Given the description of an element on the screen output the (x, y) to click on. 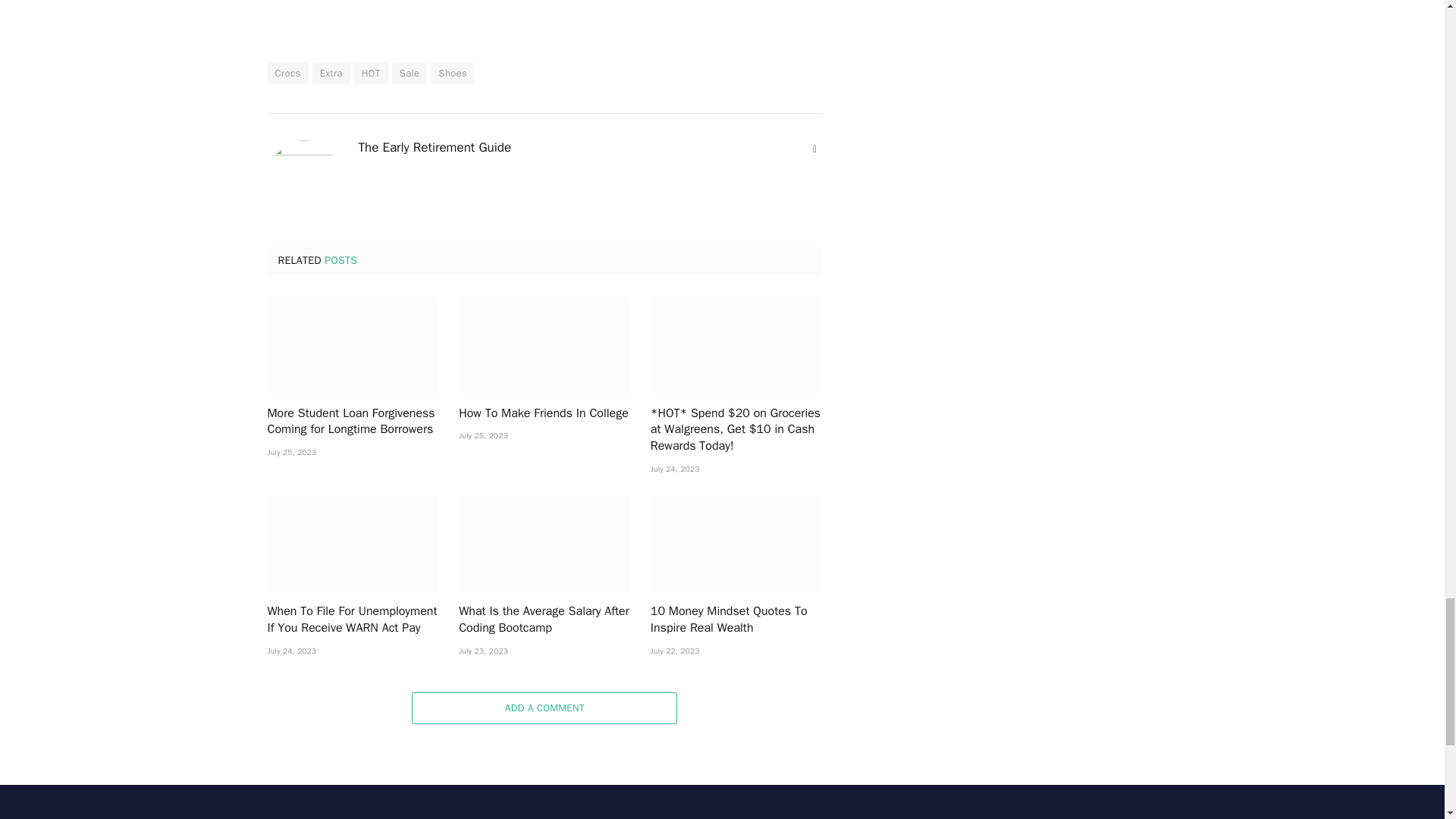
Posts by The Early Retirement Guide (434, 147)
How To Make Friends In College (544, 344)
More Student Loan Forgiveness Coming for Longtime Borrowers (352, 344)
Website (814, 149)
